Given the description of an element on the screen output the (x, y) to click on. 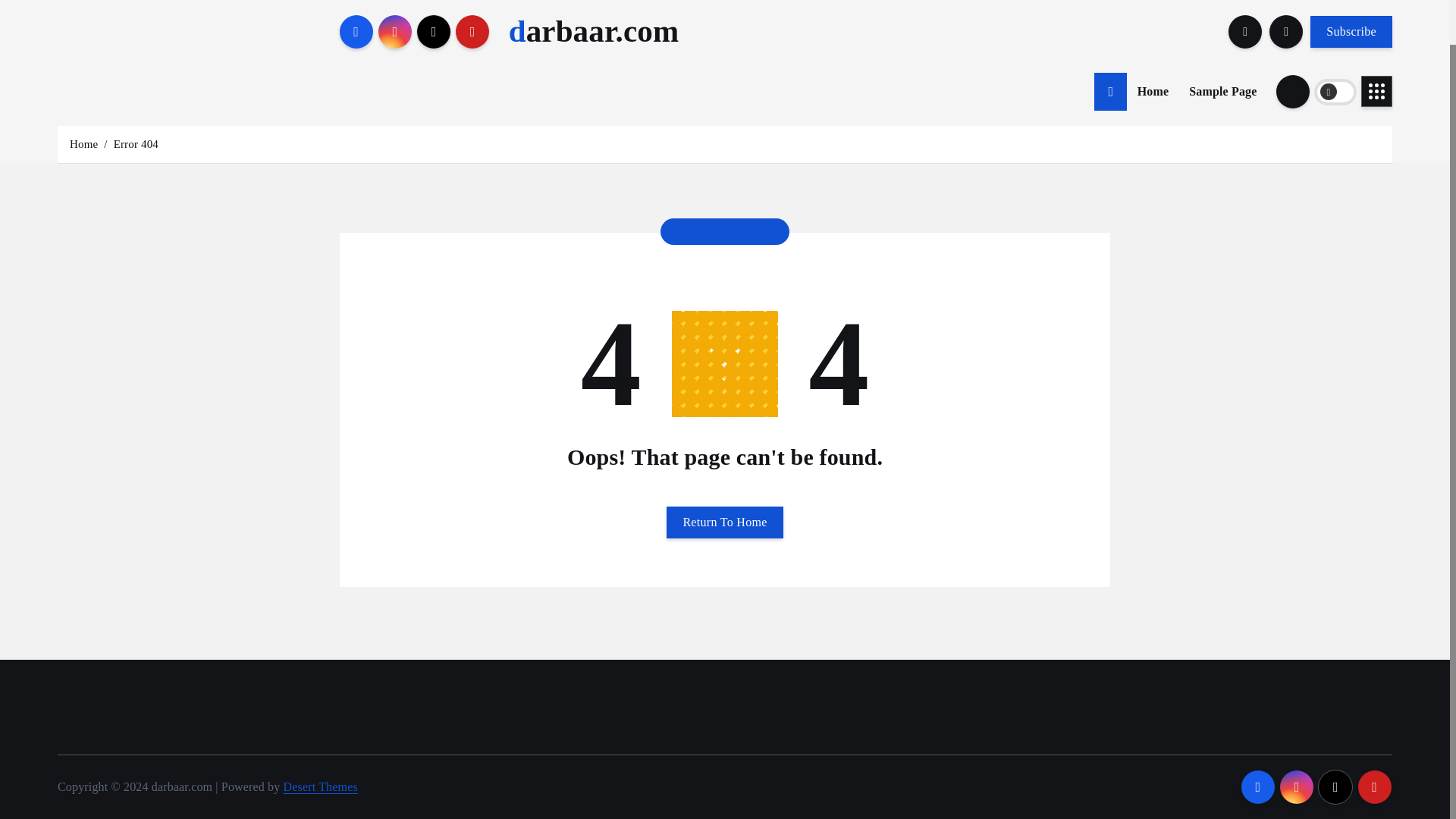
Sample Page (1222, 91)
darbaar.com (593, 31)
Home (1152, 91)
Subscribe (1350, 30)
Return To Home (724, 522)
Home (83, 143)
Home (1152, 91)
Error 404 (135, 143)
Desert Themes (320, 786)
